Given the description of an element on the screen output the (x, y) to click on. 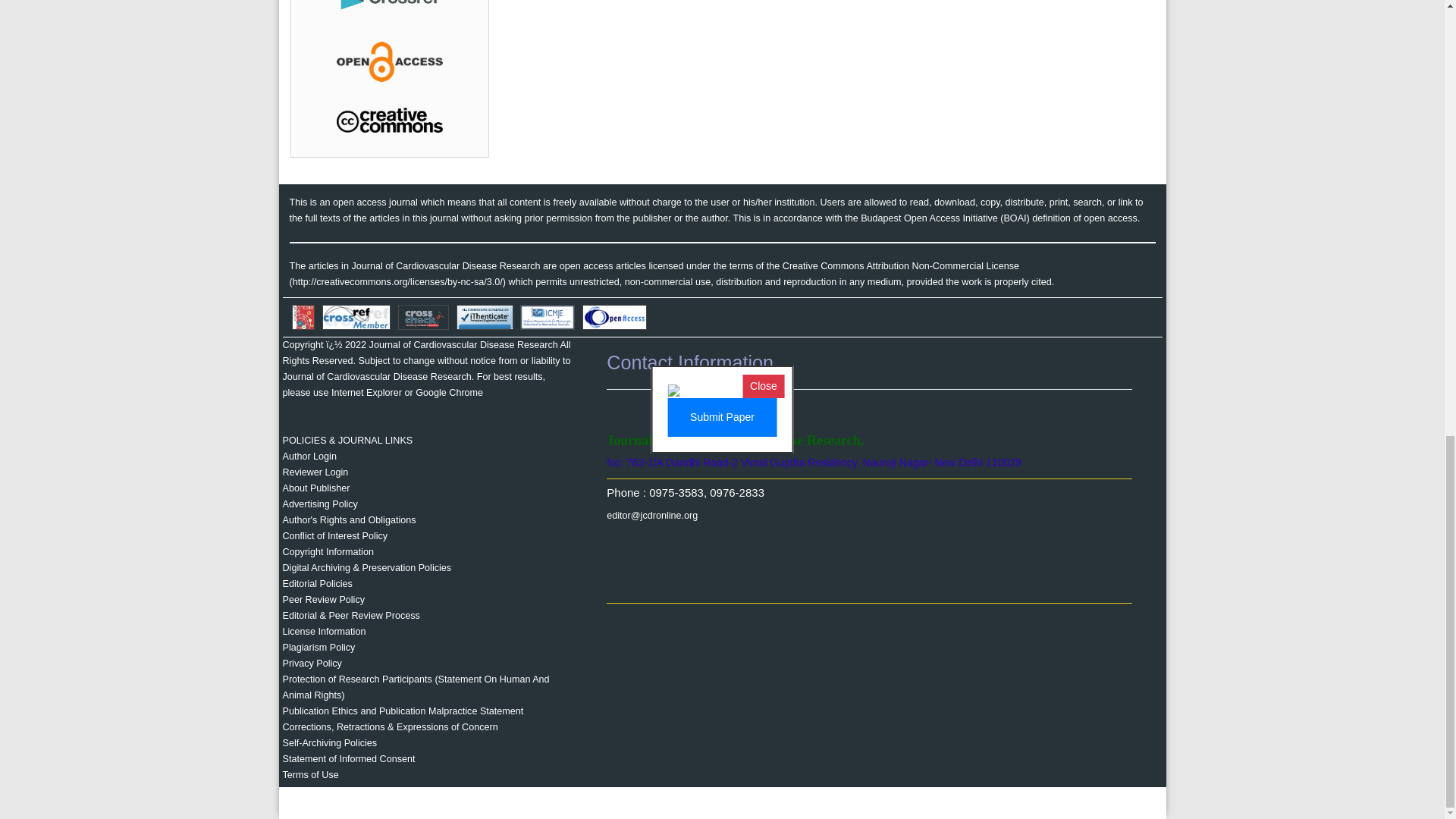
Copyright Information (327, 552)
Conflict of Interest Policy (334, 535)
Advertising Policy (319, 503)
About Publisher (315, 488)
Reviewer Login (314, 471)
Author Login (309, 456)
Author's Rights and Obligations (348, 520)
Peer Review Policy (323, 599)
License Information (323, 631)
Editorial Policies (317, 583)
